Given the description of an element on the screen output the (x, y) to click on. 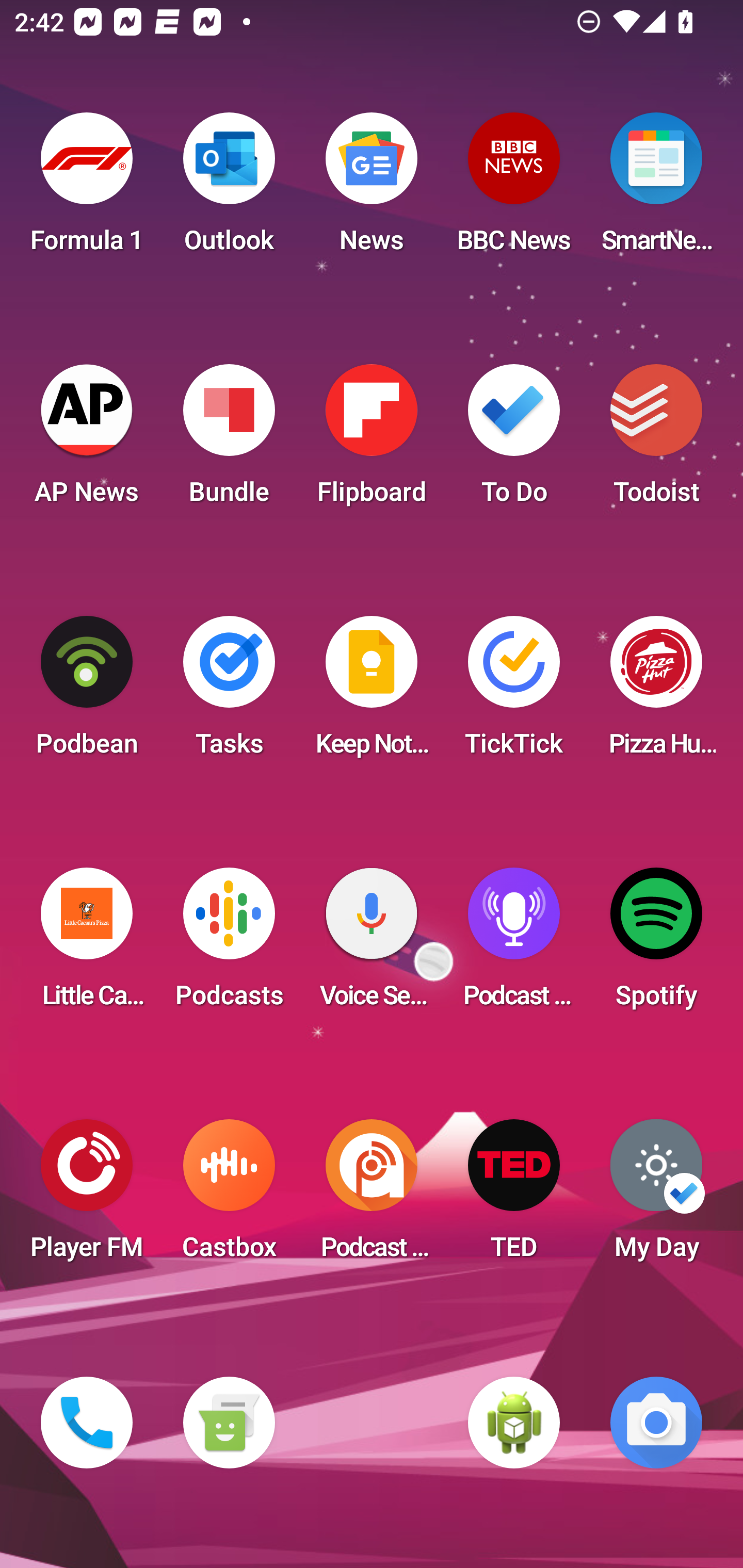
Formula 1 (86, 188)
Outlook (228, 188)
News (371, 188)
BBC News (513, 188)
SmartNews (656, 188)
AP News (86, 440)
Bundle (228, 440)
Flipboard (371, 440)
To Do (513, 440)
Todoist (656, 440)
Podbean (86, 692)
Tasks (228, 692)
Keep Notes (371, 692)
TickTick (513, 692)
Pizza Hut HK & Macau (656, 692)
Little Caesars Pizza (86, 943)
Podcasts (228, 943)
Voice Search (371, 943)
Podcast Player (513, 943)
Spotify (656, 943)
Player FM (86, 1195)
Castbox (228, 1195)
Podcast Addict (371, 1195)
TED (513, 1195)
My Day (656, 1195)
Phone (86, 1422)
Messaging (228, 1422)
WebView Browser Tester (513, 1422)
Camera (656, 1422)
